Given the description of an element on the screen output the (x, y) to click on. 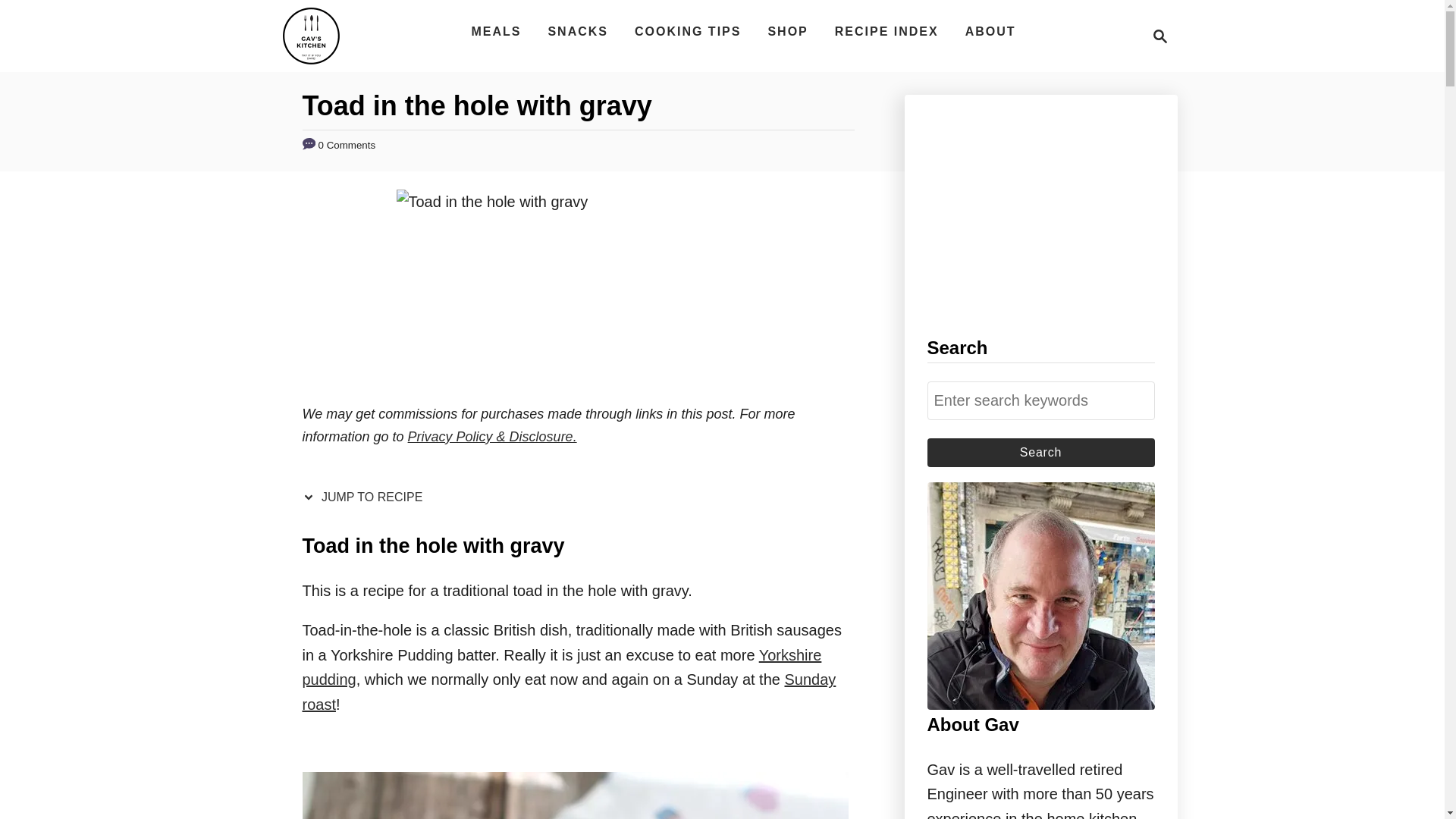
SHOP (787, 31)
COOKING TIPS (687, 31)
Search (1040, 452)
RECIPE INDEX (886, 31)
MEALS (495, 31)
Magnifying Glass (1160, 36)
Sunday roast (568, 691)
Yorkshire pudding (1155, 36)
Gav's Kitchen (561, 667)
